Given the description of an element on the screen output the (x, y) to click on. 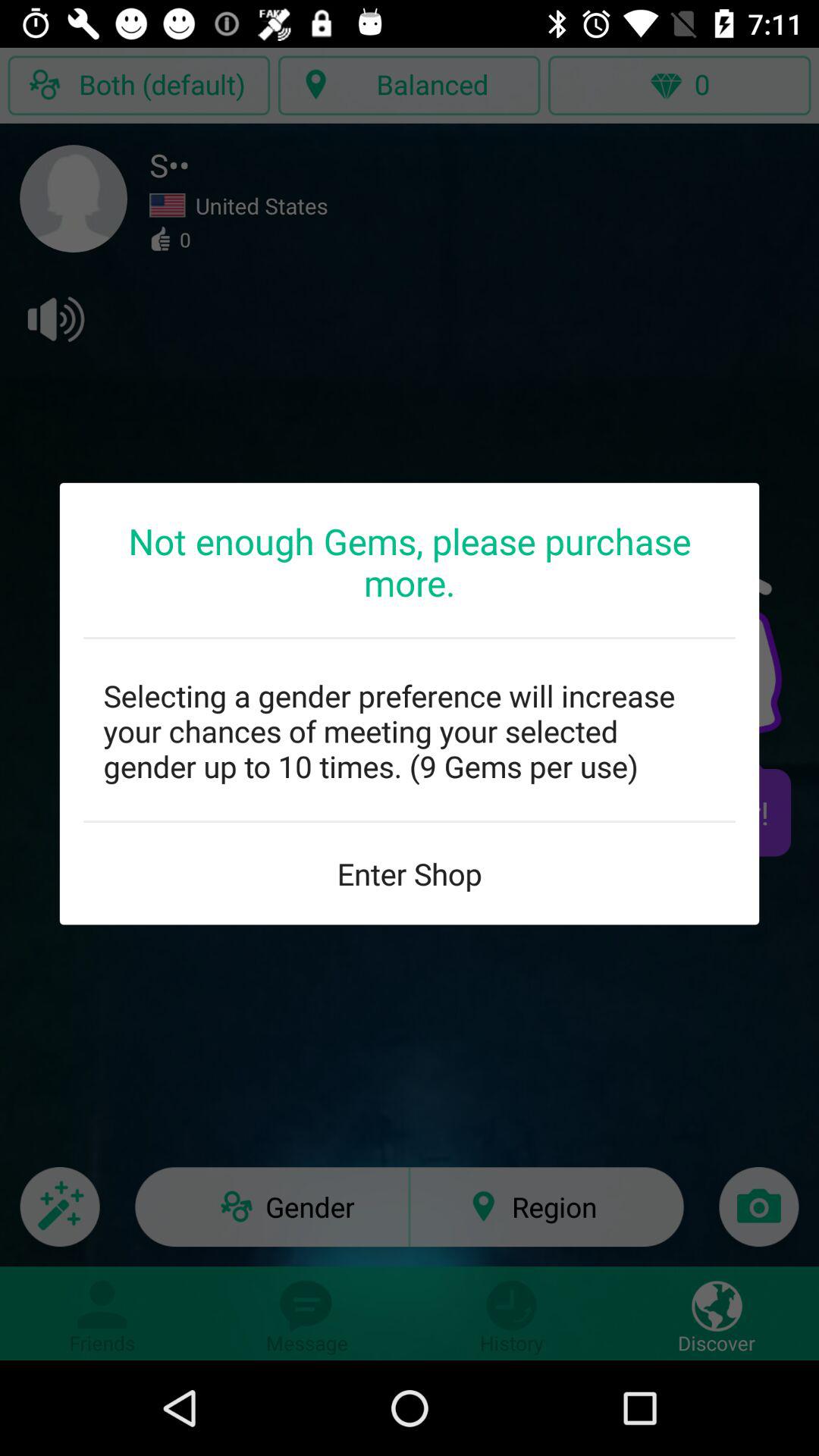
flip until the enter shop icon (409, 873)
